Given the description of an element on the screen output the (x, y) to click on. 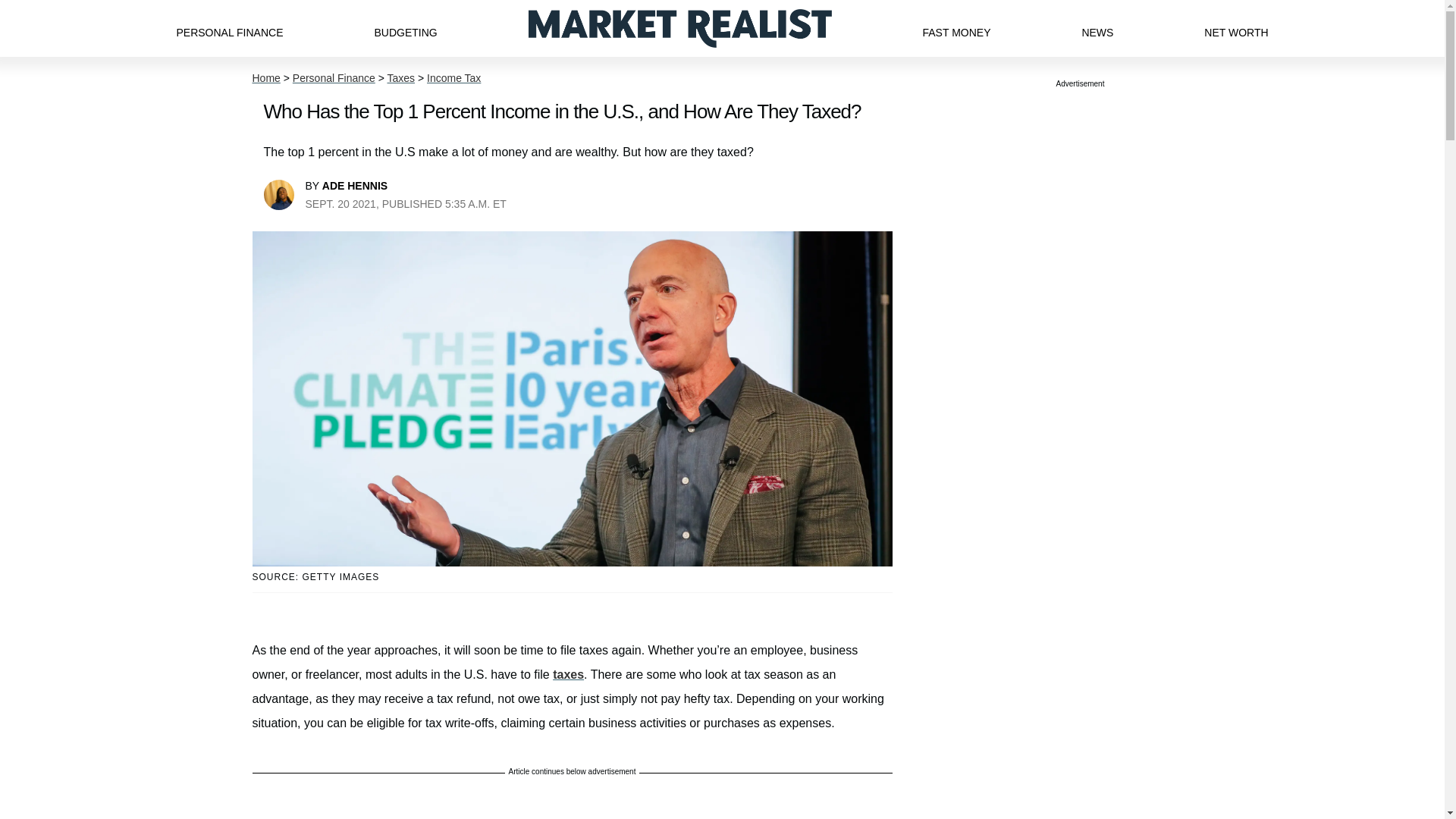
Home (265, 78)
BUDGETING (405, 27)
Taxes (400, 78)
ADE HENNIS (354, 185)
NEWS (1097, 27)
FAST MONEY (955, 27)
taxes (568, 674)
PERSONAL FINANCE (229, 27)
Income Tax (453, 78)
NET WORTH (1236, 27)
